Given the description of an element on the screen output the (x, y) to click on. 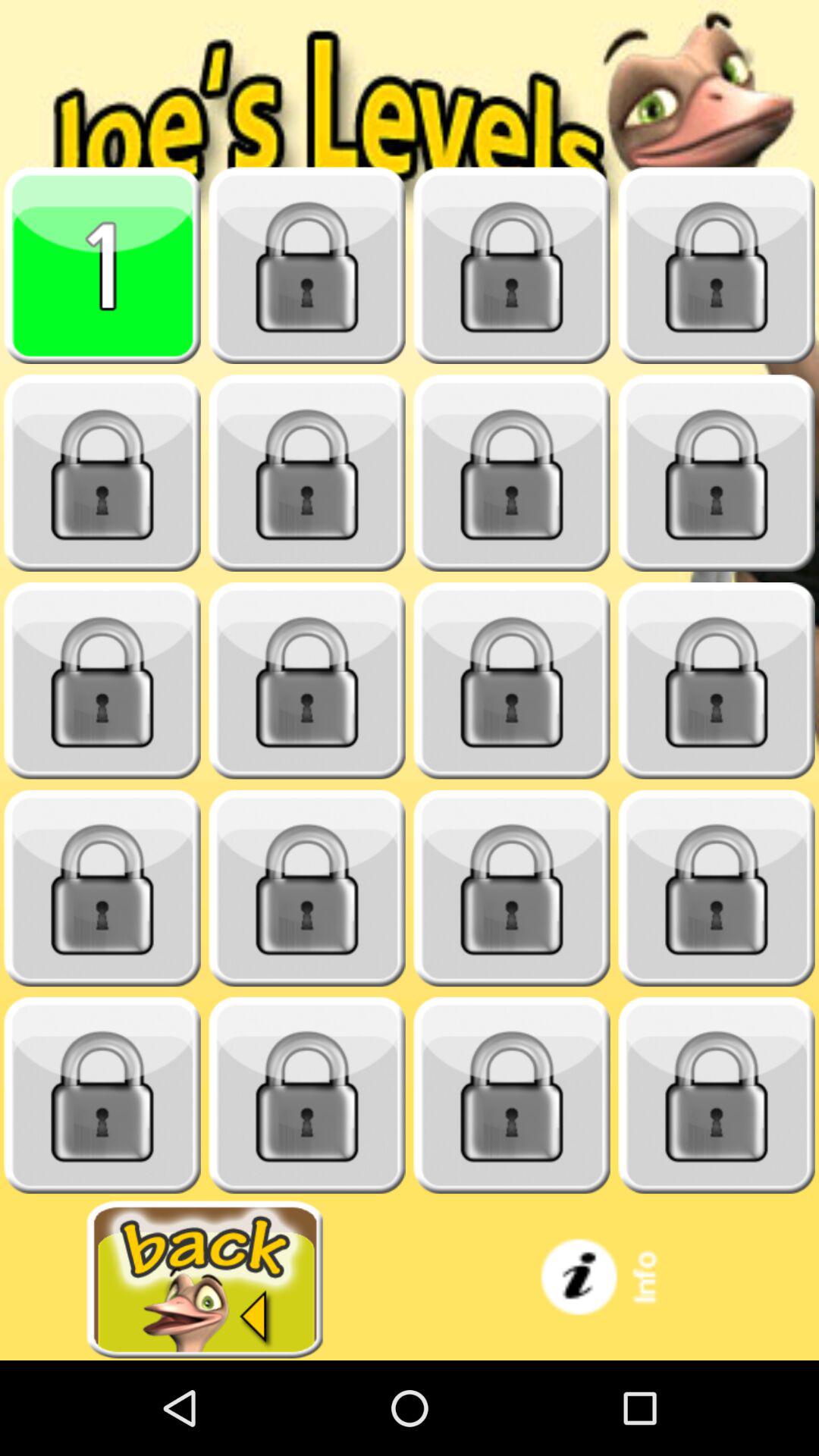
select this tile (102, 265)
